Given the description of an element on the screen output the (x, y) to click on. 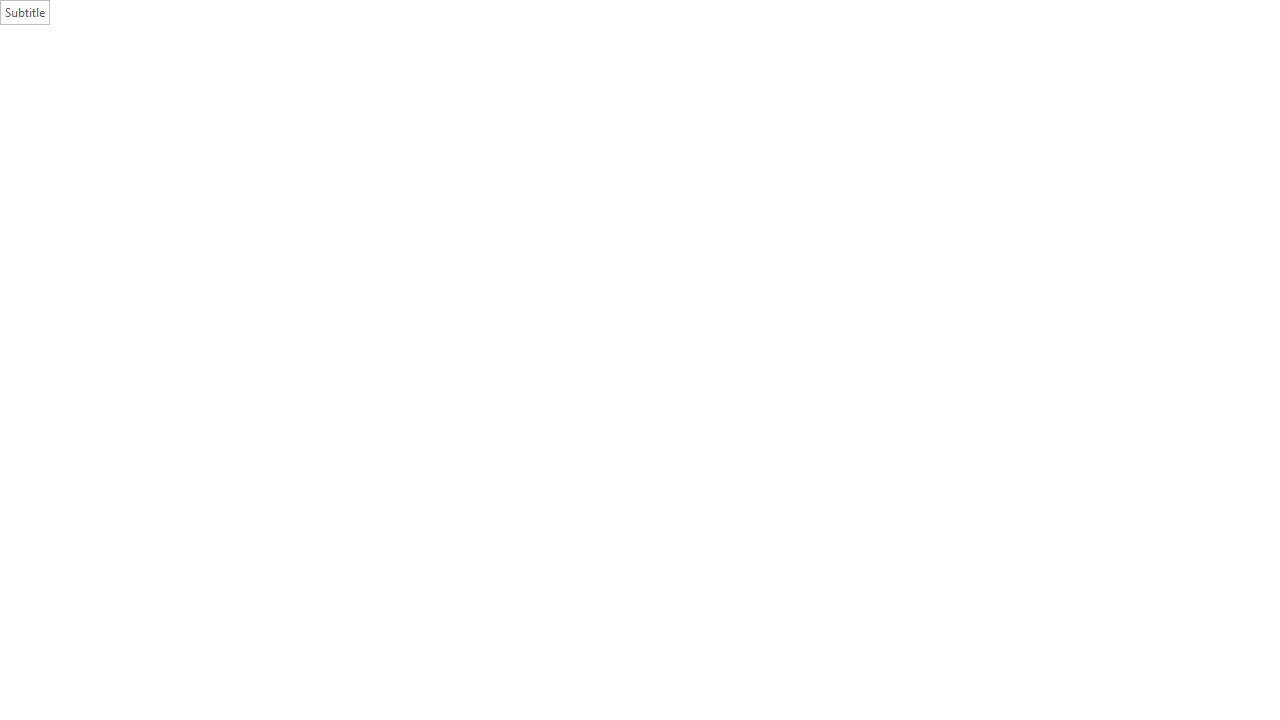
Sort... (750, 87)
Show/Hide Editing Marks (781, 87)
Shrink Font (365, 87)
Copy (78, 103)
Format Painter (103, 126)
Increase Indent (675, 87)
